Given the description of an element on the screen output the (x, y) to click on. 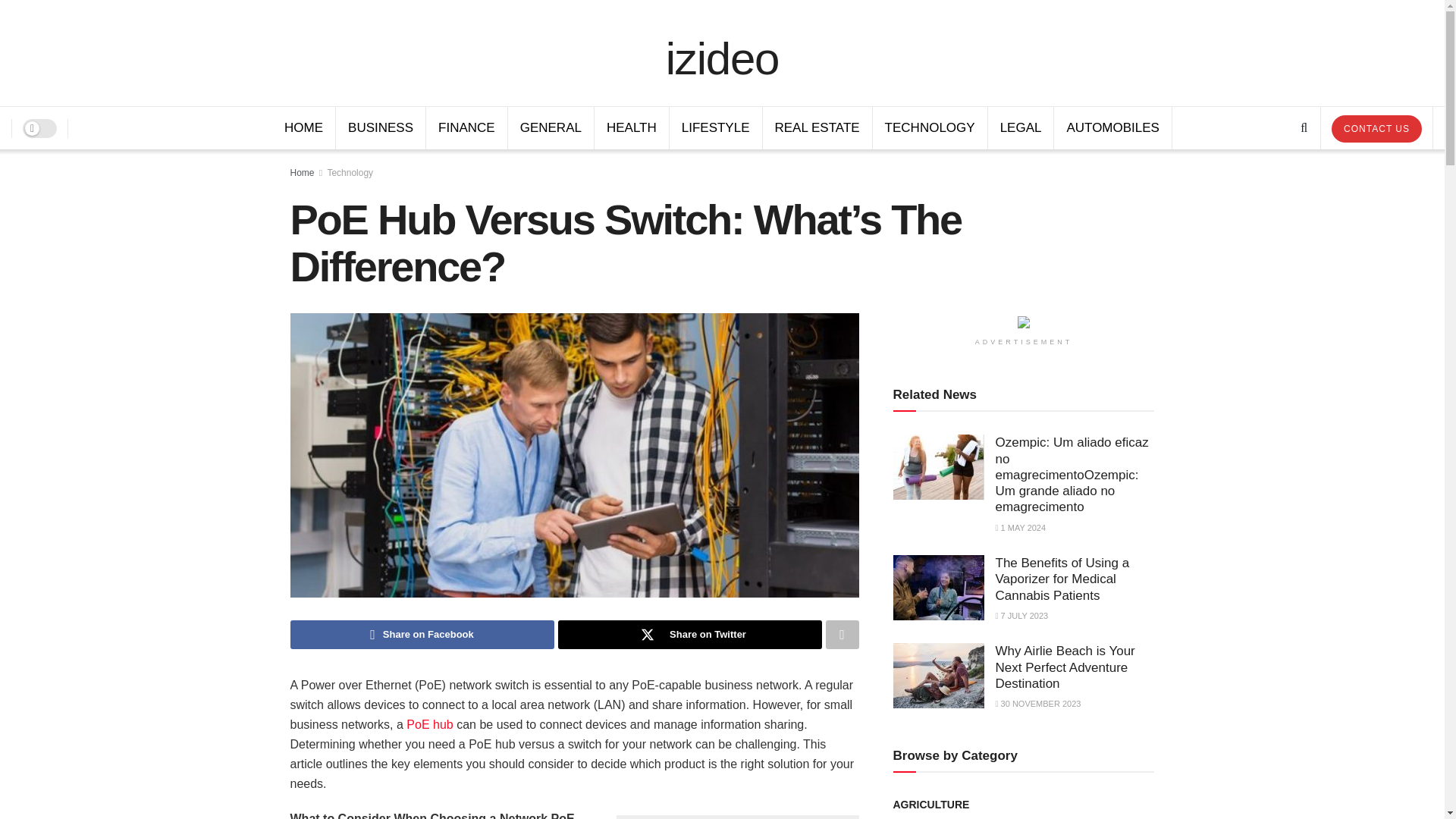
REAL ESTATE (817, 128)
BUSINESS (380, 128)
Technology (349, 172)
LEGAL (1021, 128)
Share on Twitter (689, 634)
GENERAL (551, 128)
LIFESTYLE (715, 128)
FINANCE (466, 128)
TECHNOLOGY (929, 128)
izideo (721, 52)
